Given the description of an element on the screen output the (x, y) to click on. 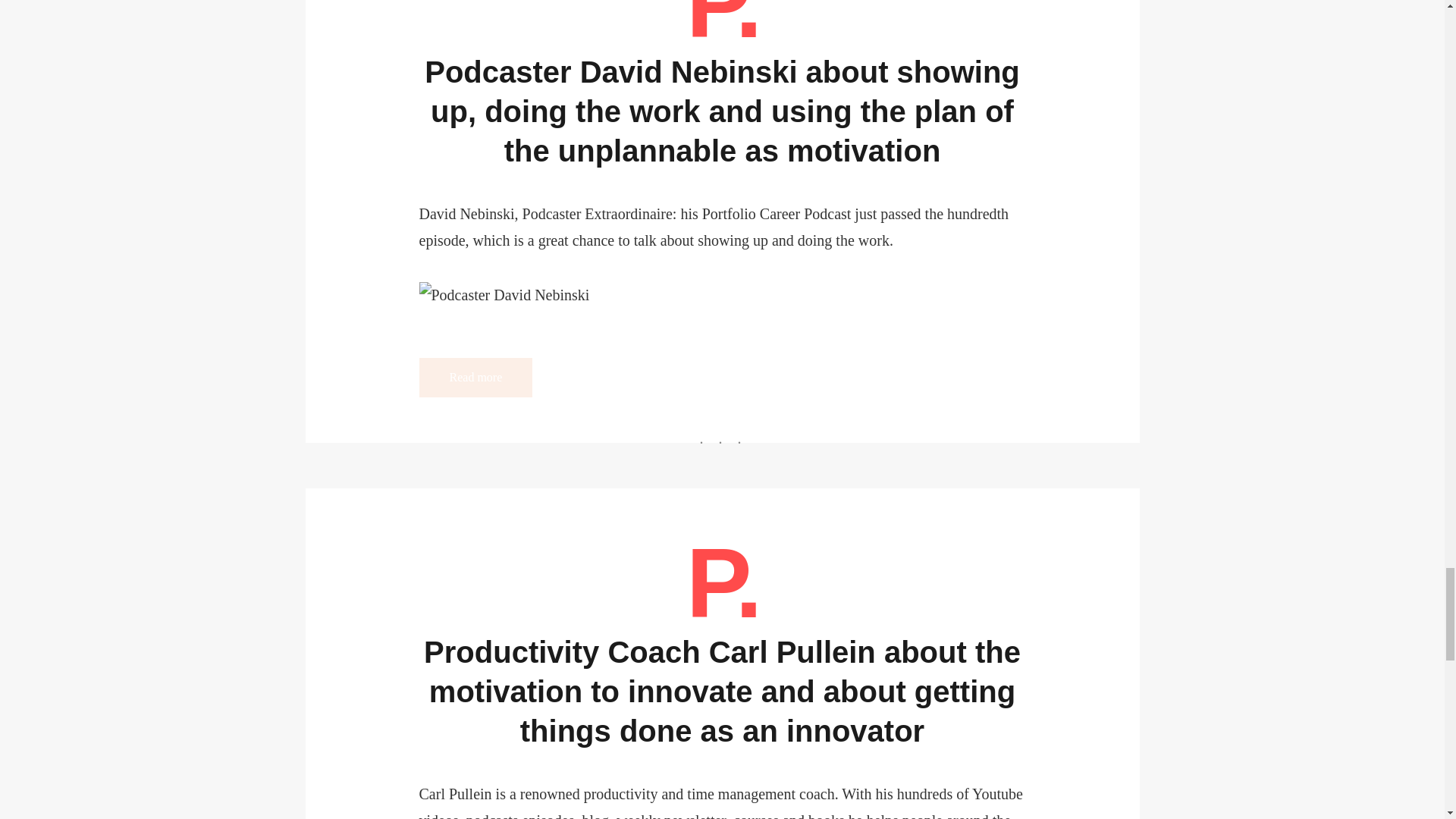
Read more (475, 377)
